Given the description of an element on the screen output the (x, y) to click on. 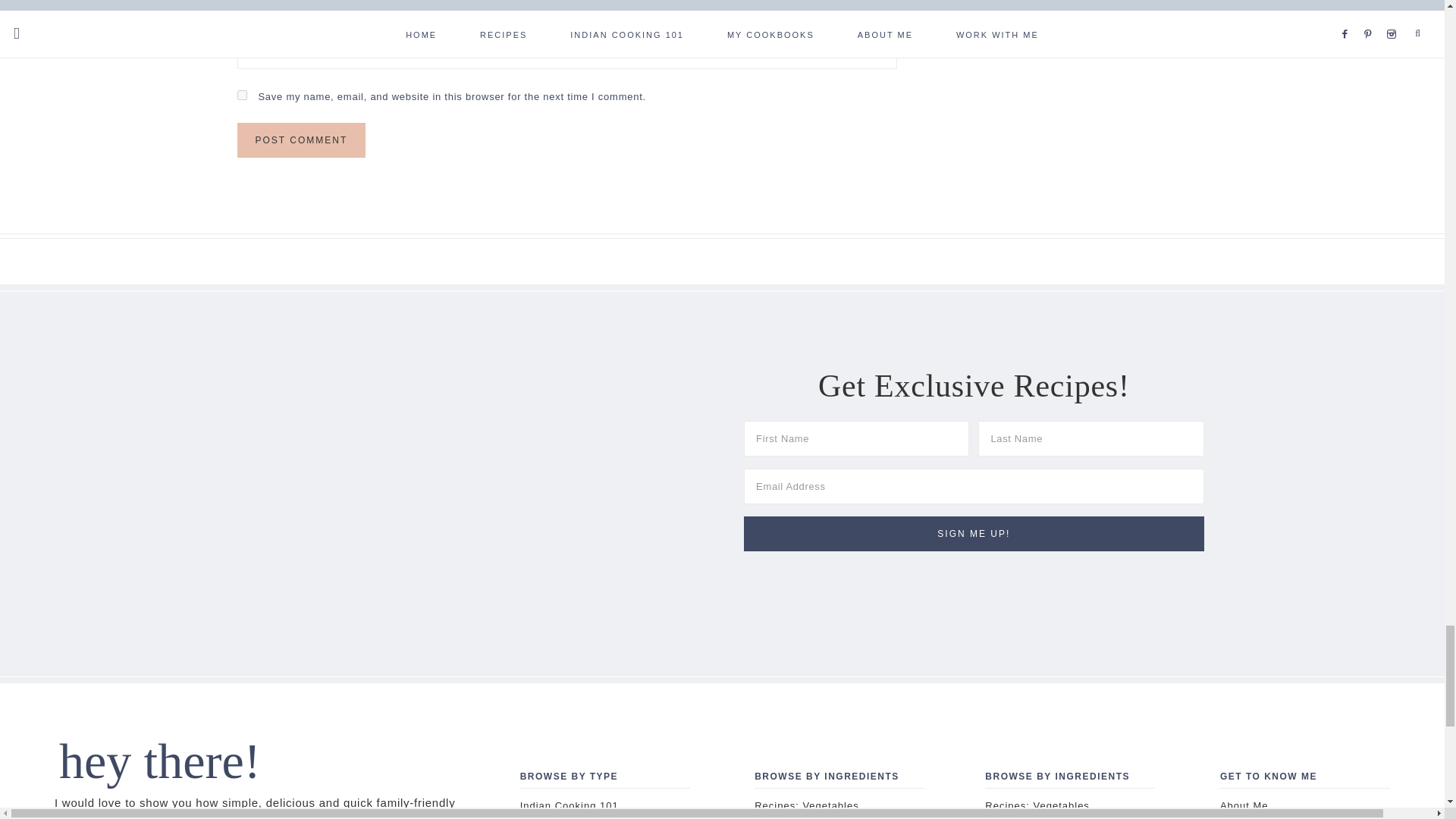
Sign Me Up! (974, 533)
Post Comment (300, 140)
yes (240, 94)
